Given the description of an element on the screen output the (x, y) to click on. 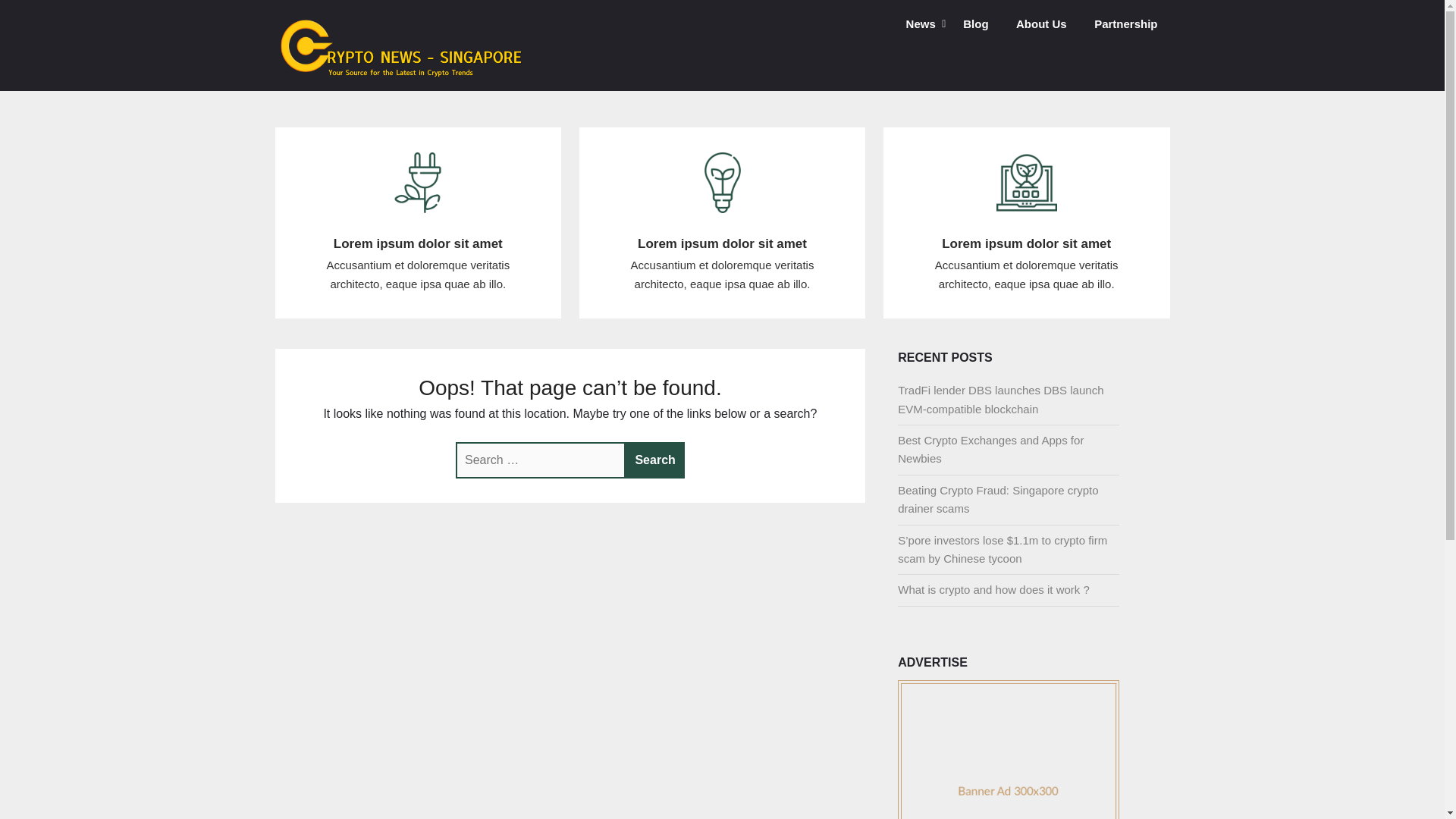
What is crypto and how does it work ? (993, 589)
Beating Crypto Fraud: Singapore crypto drainer scams (997, 499)
Search (655, 460)
Best Crypto Exchanges and Apps for Newbies (990, 449)
About Us (1041, 24)
Search (655, 460)
Blog (975, 24)
News (920, 24)
Search (655, 460)
